Given the description of an element on the screen output the (x, y) to click on. 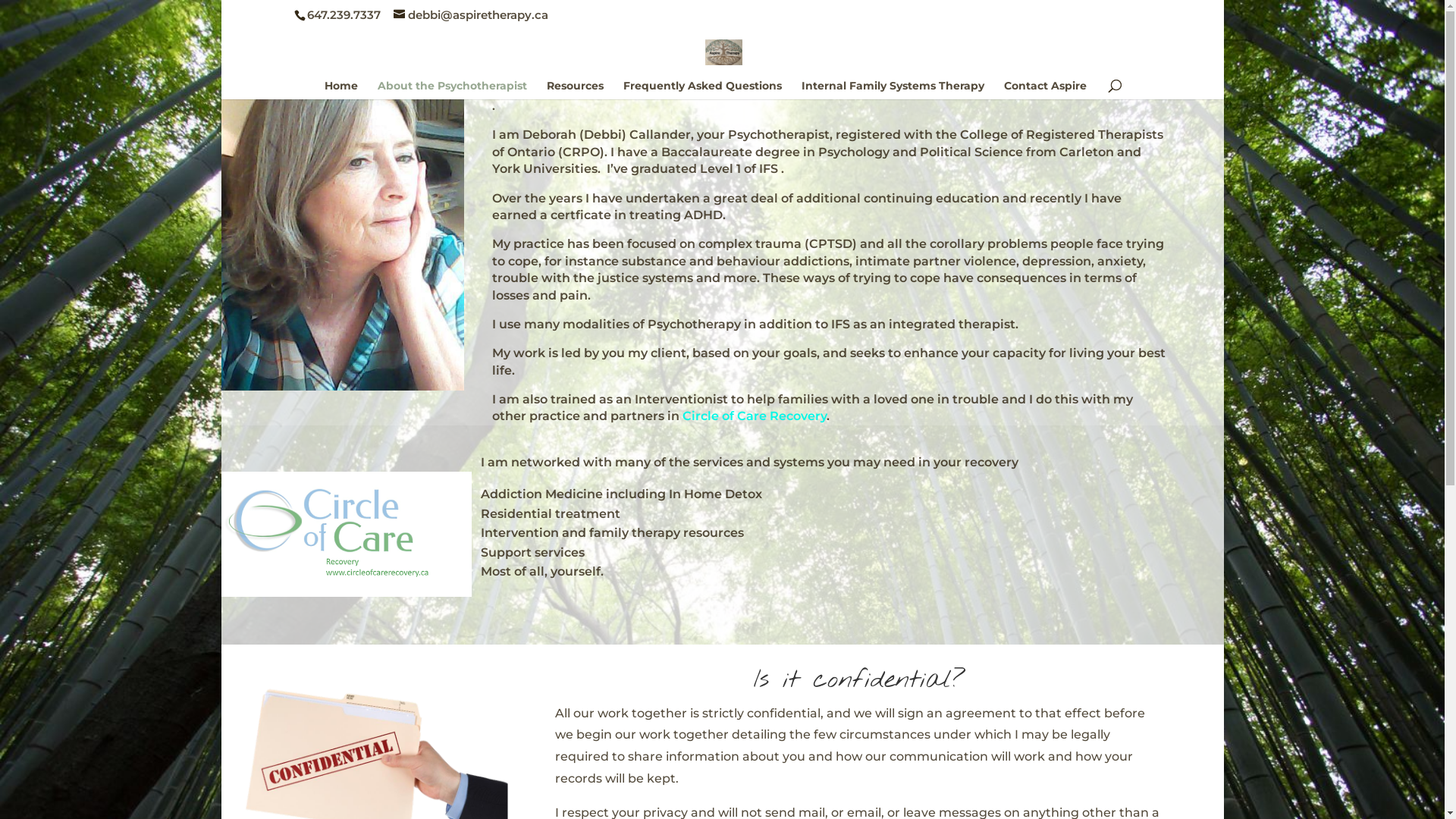
About the Psychotherapist Element type: text (452, 89)
Circle of Care Recovery Element type: text (754, 415)
Frequently Asked Questions Element type: text (702, 89)
debbi@aspiretherapy.ca Element type: text (470, 14)
Contact Aspire Element type: text (1045, 89)
COC Banner V3 Element type: hover (346, 533)
Home Element type: text (340, 89)
Internal Family Systems Therapy Element type: text (892, 89)
Resources Element type: text (574, 89)
